Given the description of an element on the screen output the (x, y) to click on. 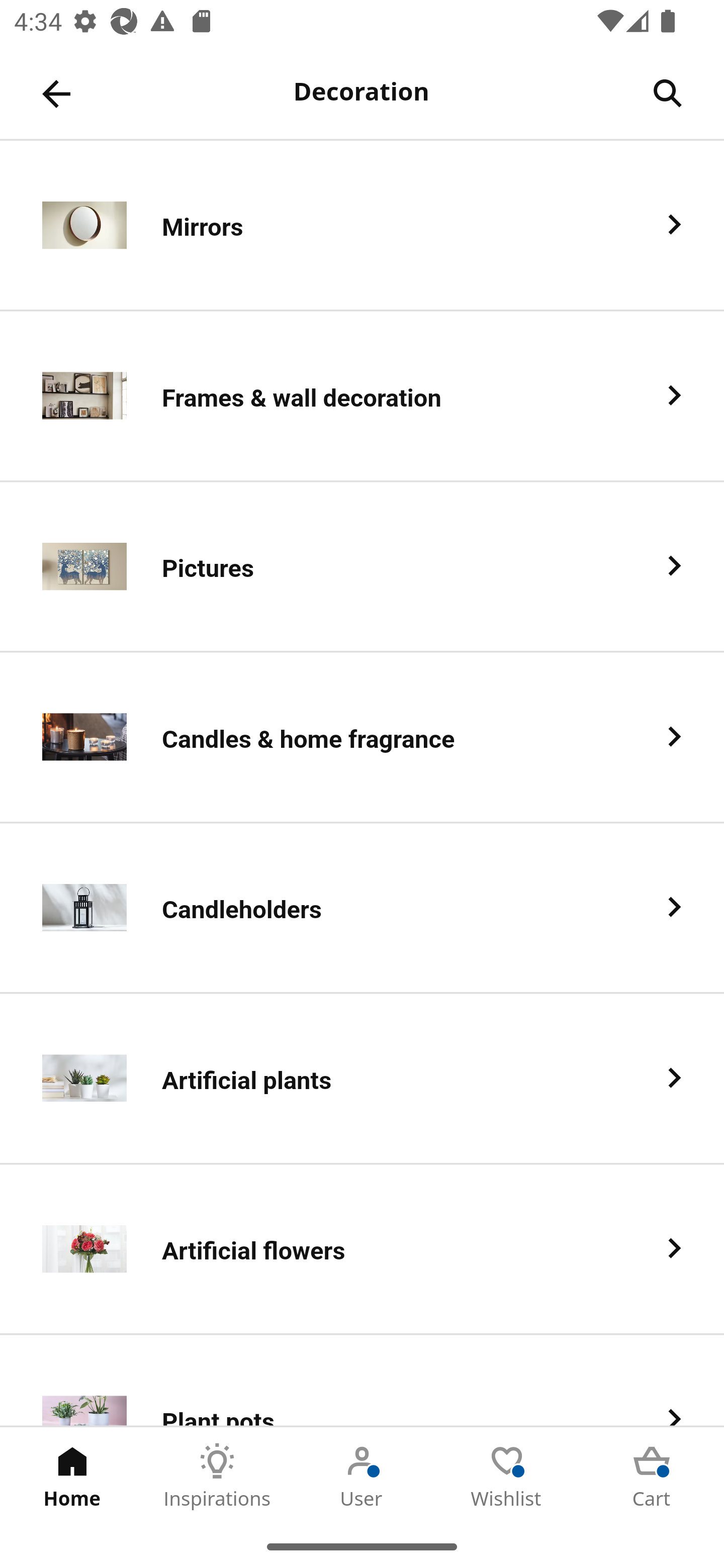
Mirrors (362, 226)
Frames & wall decoration (362, 396)
Pictures (362, 566)
Candles & home fragrance (362, 737)
Candleholders (362, 908)
Artificial plants (362, 1079)
Artificial flowers (362, 1250)
Home
Tab 1 of 5 (72, 1476)
Inspirations
Tab 2 of 5 (216, 1476)
User
Tab 3 of 5 (361, 1476)
Wishlist
Tab 4 of 5 (506, 1476)
Cart
Tab 5 of 5 (651, 1476)
